Given the description of an element on the screen output the (x, y) to click on. 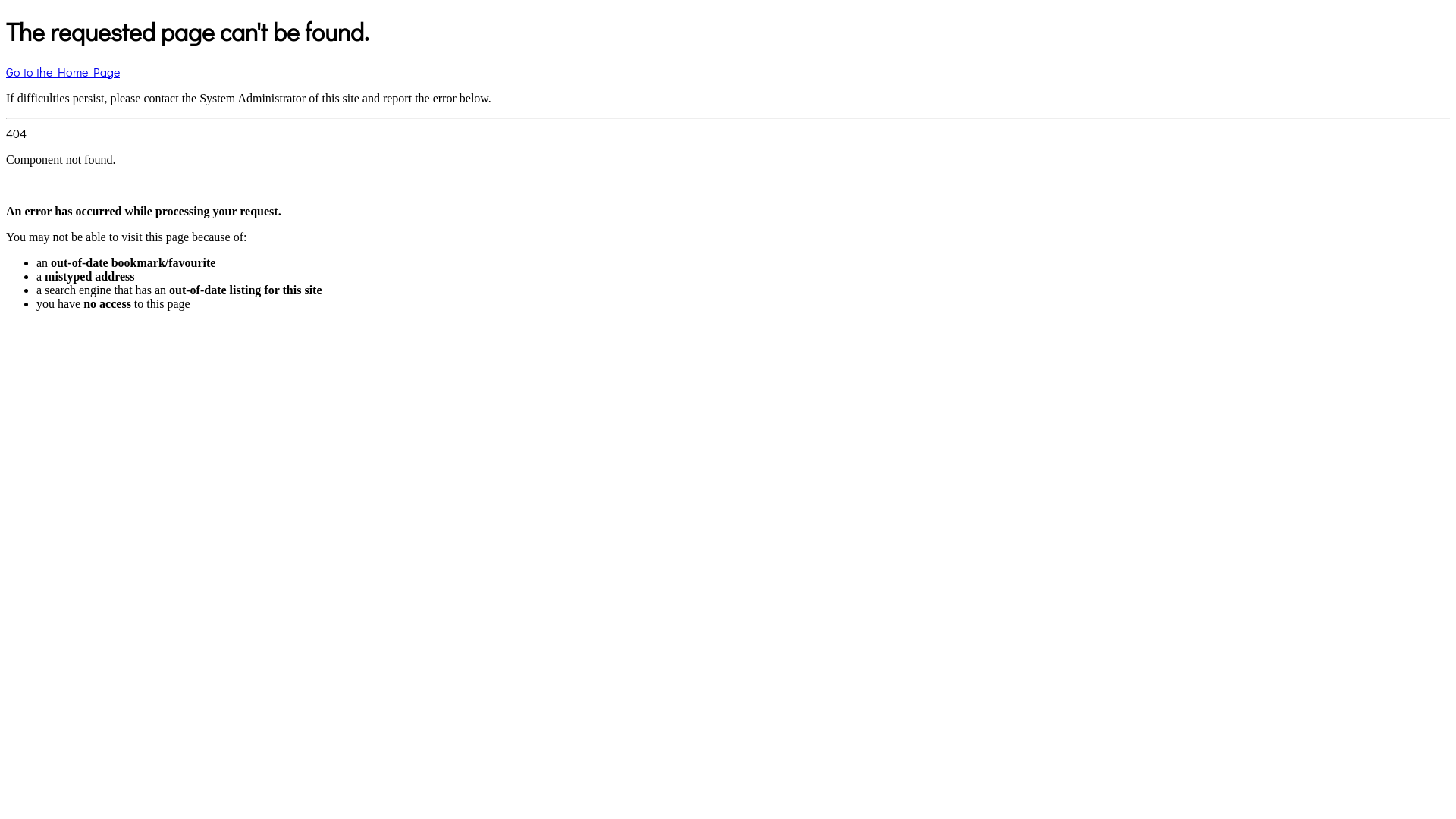
Go to the Home Page Element type: text (62, 71)
